Given the description of an element on the screen output the (x, y) to click on. 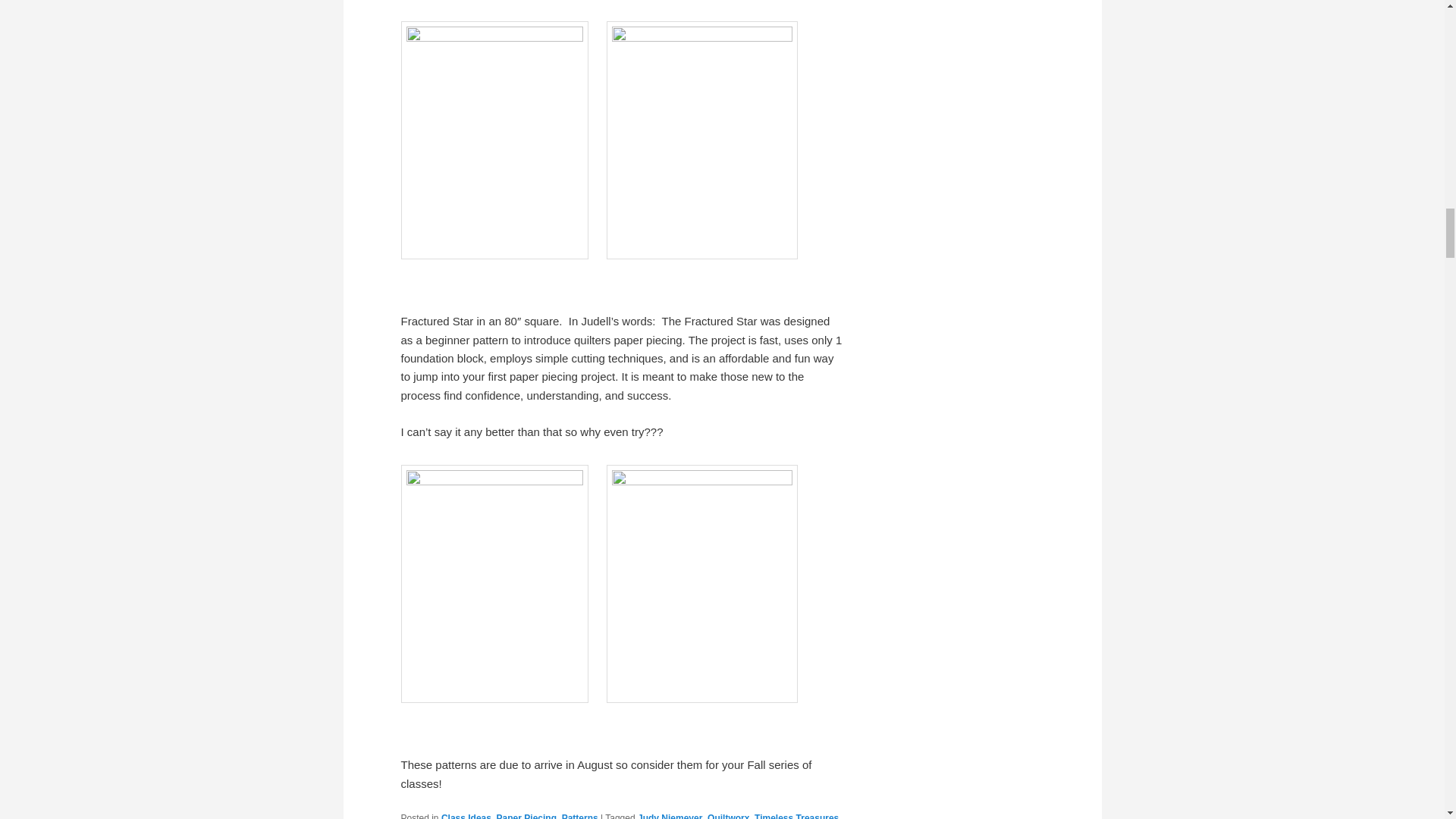
Patterns (580, 816)
Judy Niemeyer (669, 816)
Paper Piecing (526, 816)
Quiltworx (728, 816)
Class Ideas (466, 816)
